Given the description of an element on the screen output the (x, y) to click on. 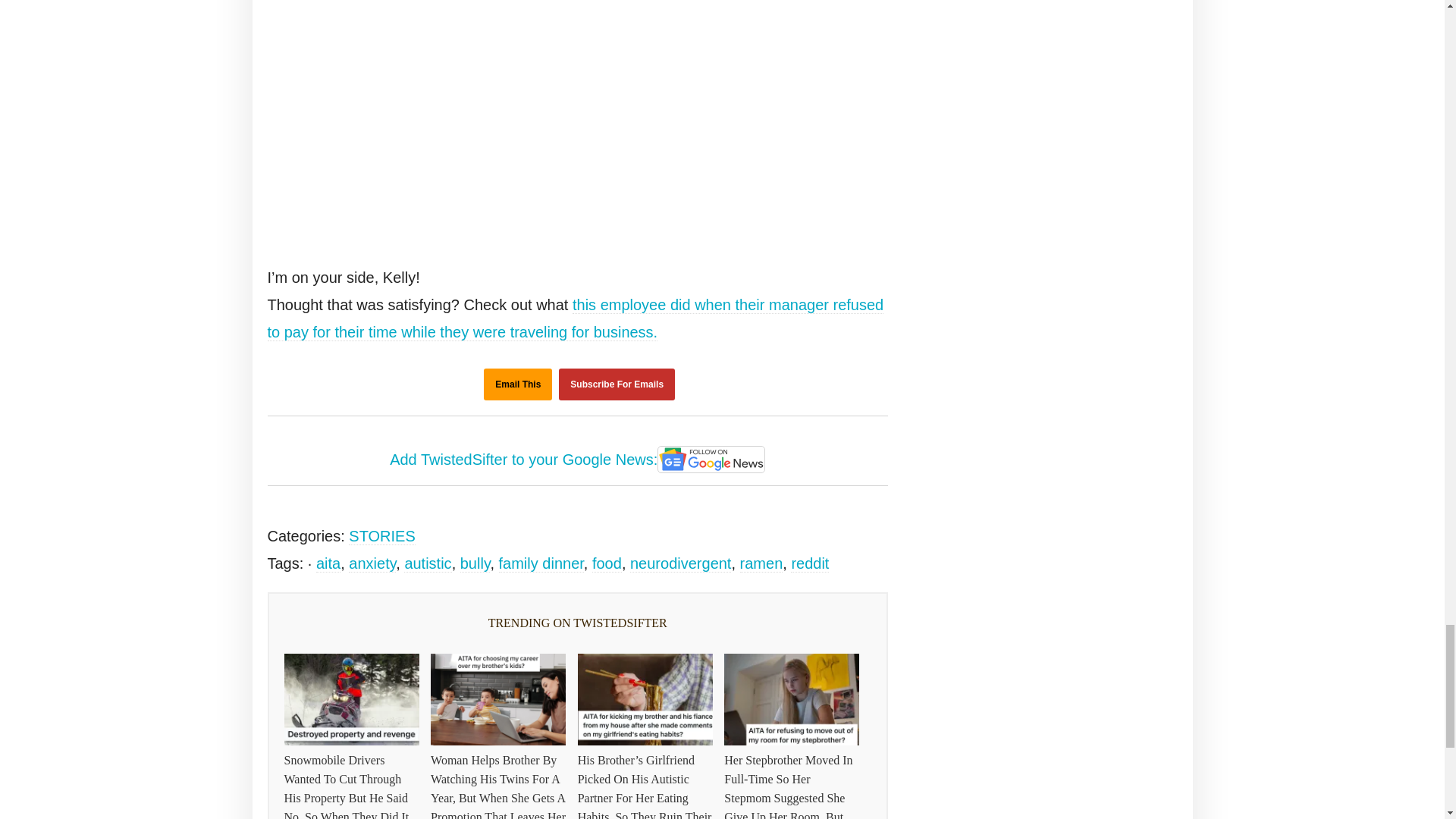
autistic (427, 563)
family dinner (541, 563)
STORIES (381, 536)
Google News (711, 459)
Add TwistedSifter to your Google News: (577, 460)
Email This (517, 384)
Subscribe For Emails (617, 384)
aita (327, 563)
anxiety (372, 563)
bully (475, 563)
